Given the description of an element on the screen output the (x, y) to click on. 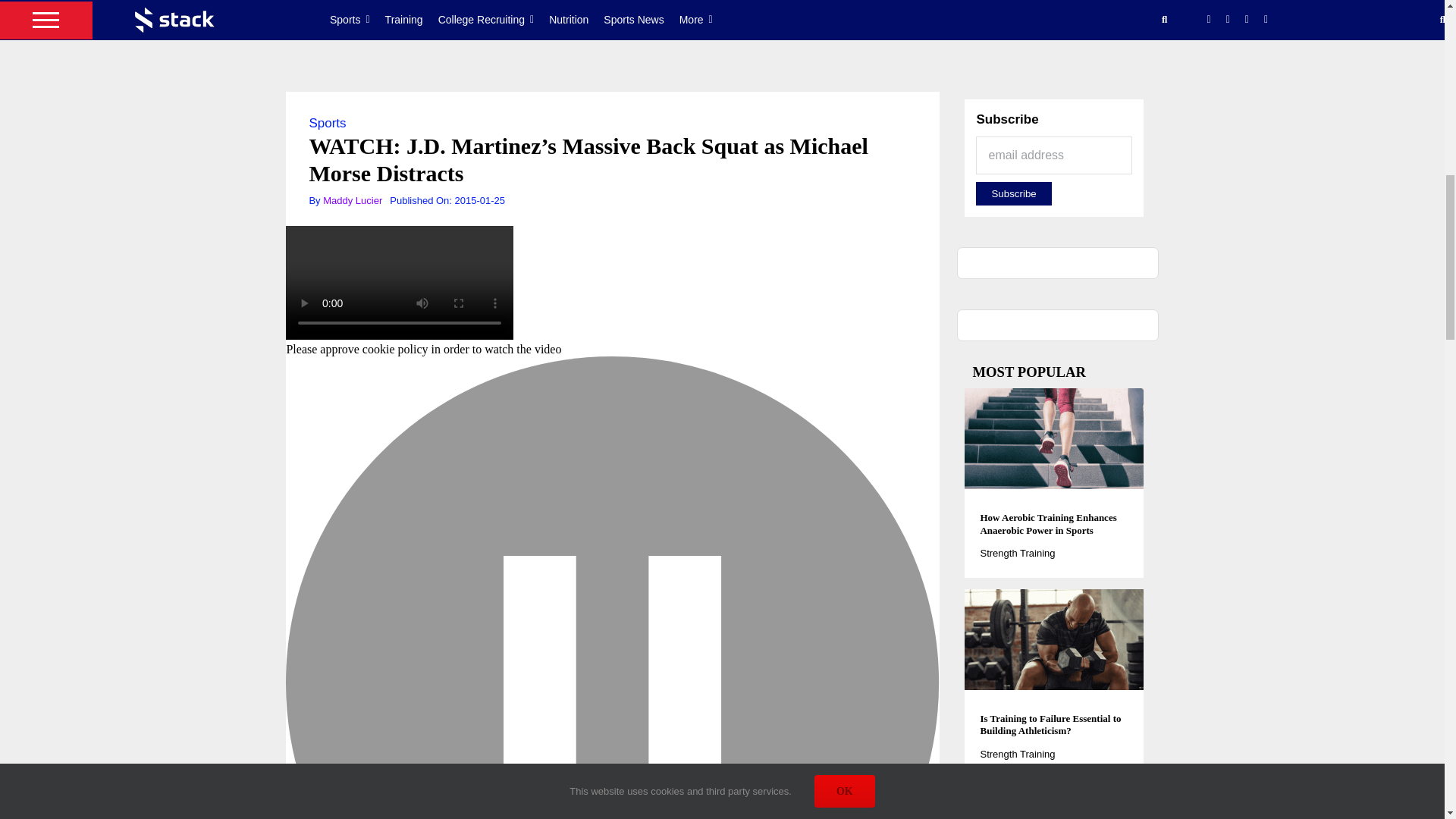
Sports (327, 123)
Posts by Maddy Lucier (352, 200)
Subscribe (1013, 193)
